Given the description of an element on the screen output the (x, y) to click on. 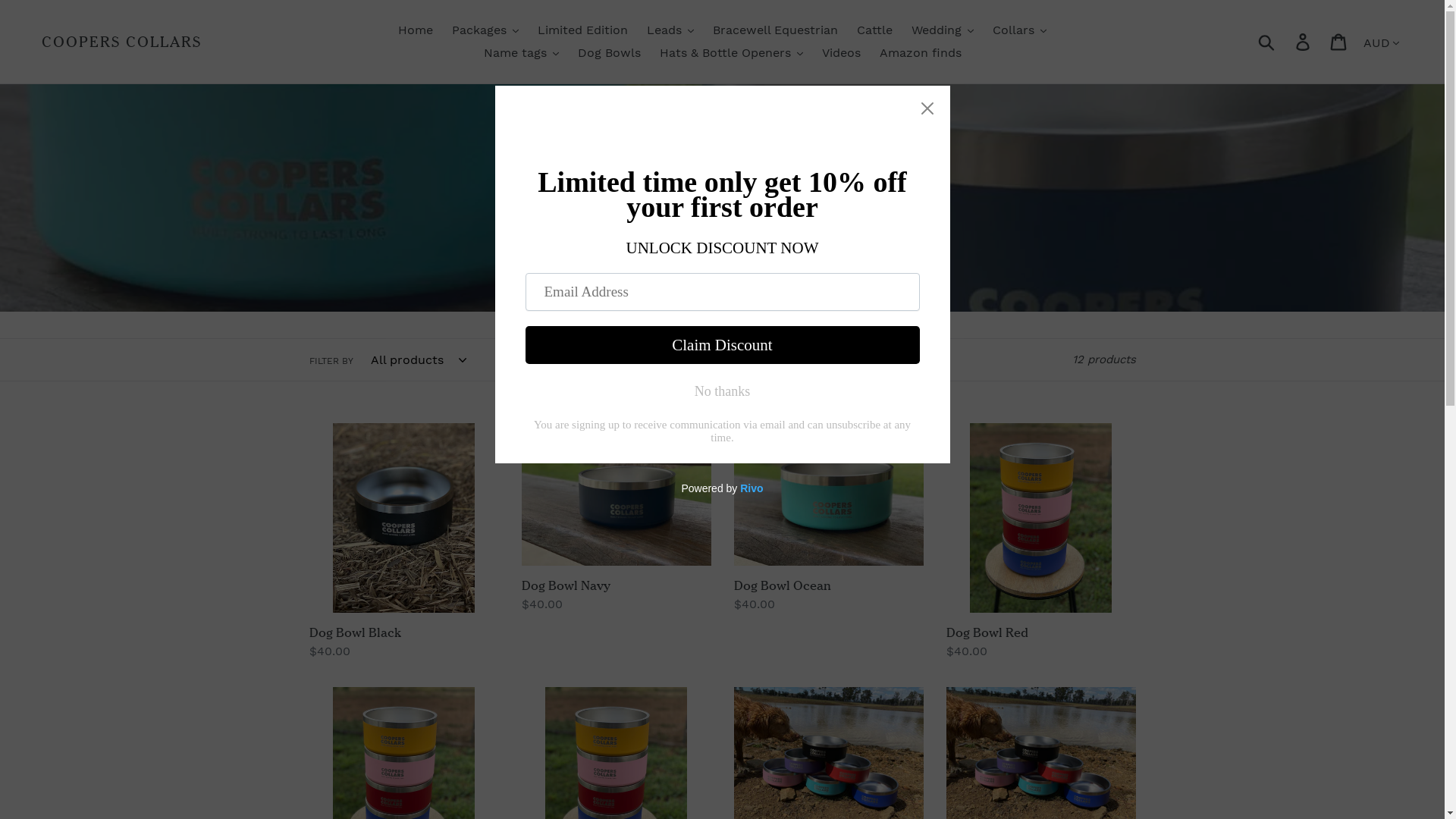
Dog Bowl Red Element type: text (1040, 541)
Limited Edition Element type: text (582, 29)
Dog Bowl Black Element type: text (403, 541)
Amazon finds Element type: text (920, 52)
Videos Element type: text (841, 52)
Dog Bowl Navy Element type: text (616, 518)
Cattle Element type: text (874, 29)
Home Element type: text (415, 29)
Submit Element type: text (1267, 41)
Dog Bowl Ocean Element type: text (828, 518)
Log in Element type: text (1303, 42)
Cart Element type: text (1339, 42)
Dog Bowls Element type: text (609, 52)
COOPERS COLLARS Element type: text (121, 41)
Bracewell Equestrian Element type: text (775, 29)
